Given the description of an element on the screen output the (x, y) to click on. 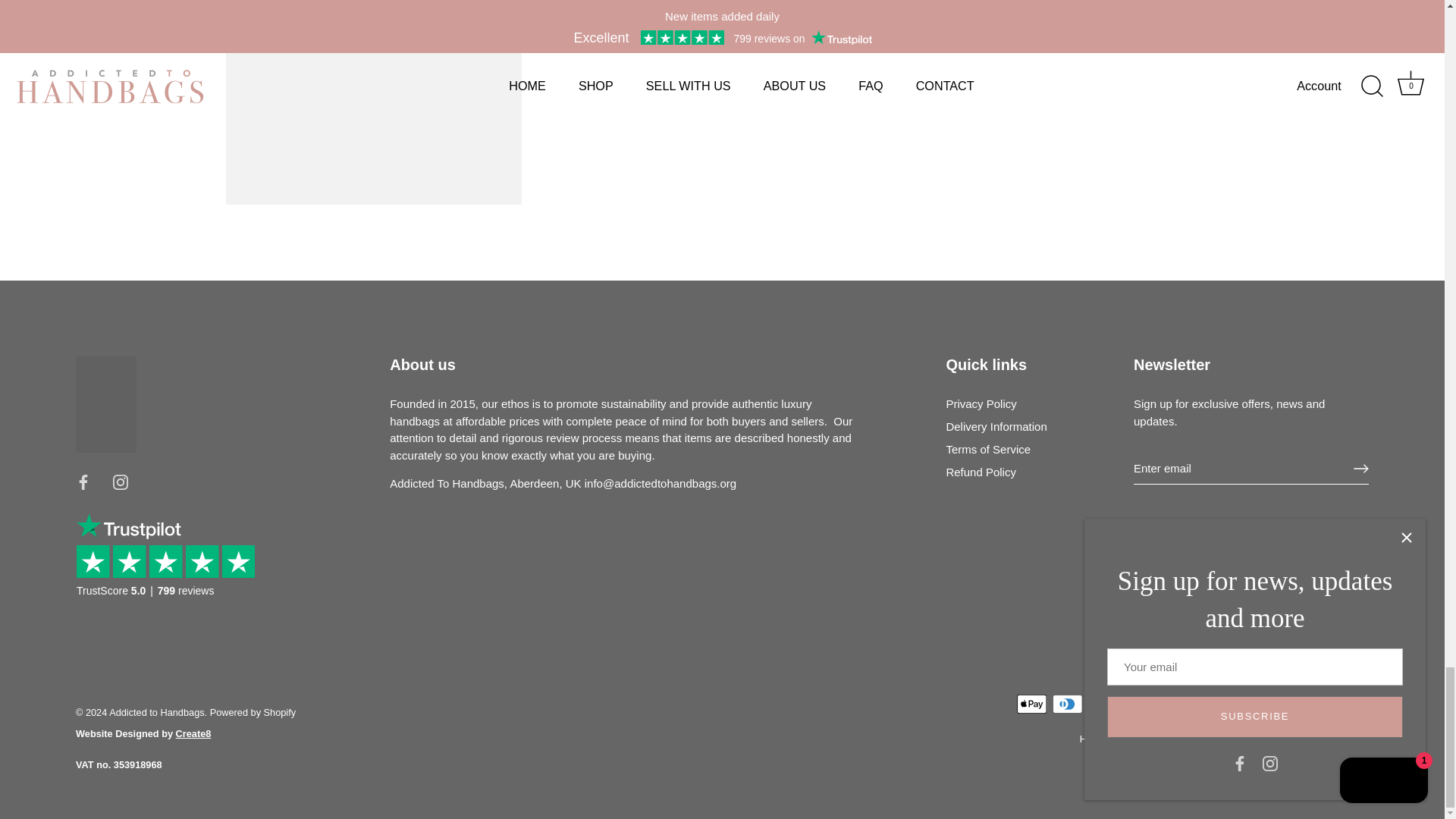
Google Pay (1138, 703)
Mastercard (1209, 703)
Apple Pay (1031, 703)
Shop Pay (1245, 703)
Discover (1102, 703)
Maestro (1173, 703)
Instagram (120, 482)
Union Pay (1281, 703)
Visa (1317, 703)
RIGHT ARROW LONG (1361, 468)
Diners Club (1067, 703)
Customer reviews powered by Trustpilot (170, 569)
